Given the description of an element on the screen output the (x, y) to click on. 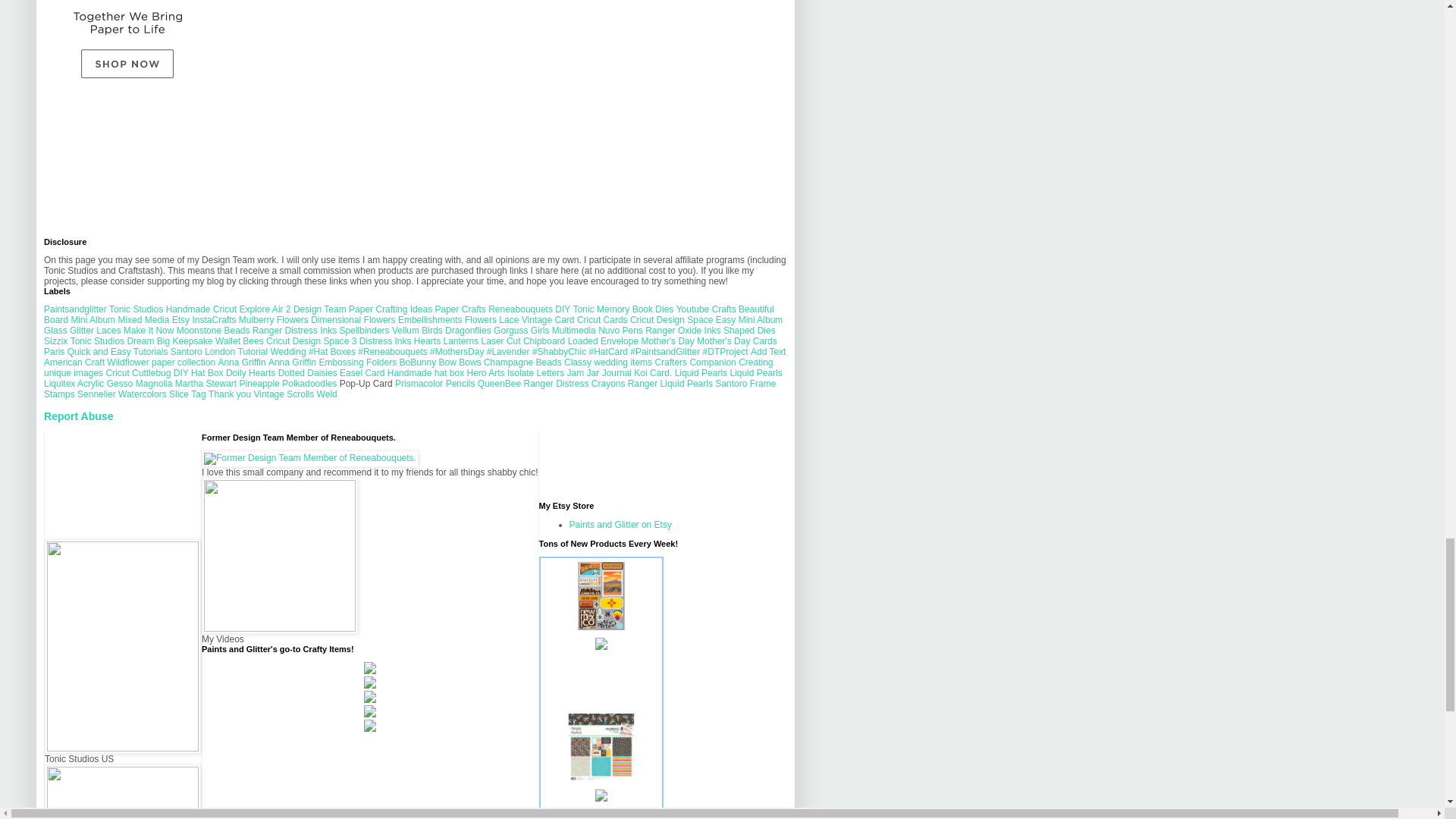
Mixed Media (142, 319)
Design Team (320, 308)
Paintsandglitter (74, 308)
Tonic Studios (136, 308)
Beautiful Board (408, 314)
Cricut Explore Air 2 (251, 308)
Handmade (188, 308)
Youtube Crafts (706, 308)
Tonic Memory Book Dies (623, 308)
Reneabouquets (520, 308)
Mini Album (92, 319)
Paper Crafting Ideas (390, 308)
DIY (562, 308)
Paper Crafts (458, 308)
